Given the description of an element on the screen output the (x, y) to click on. 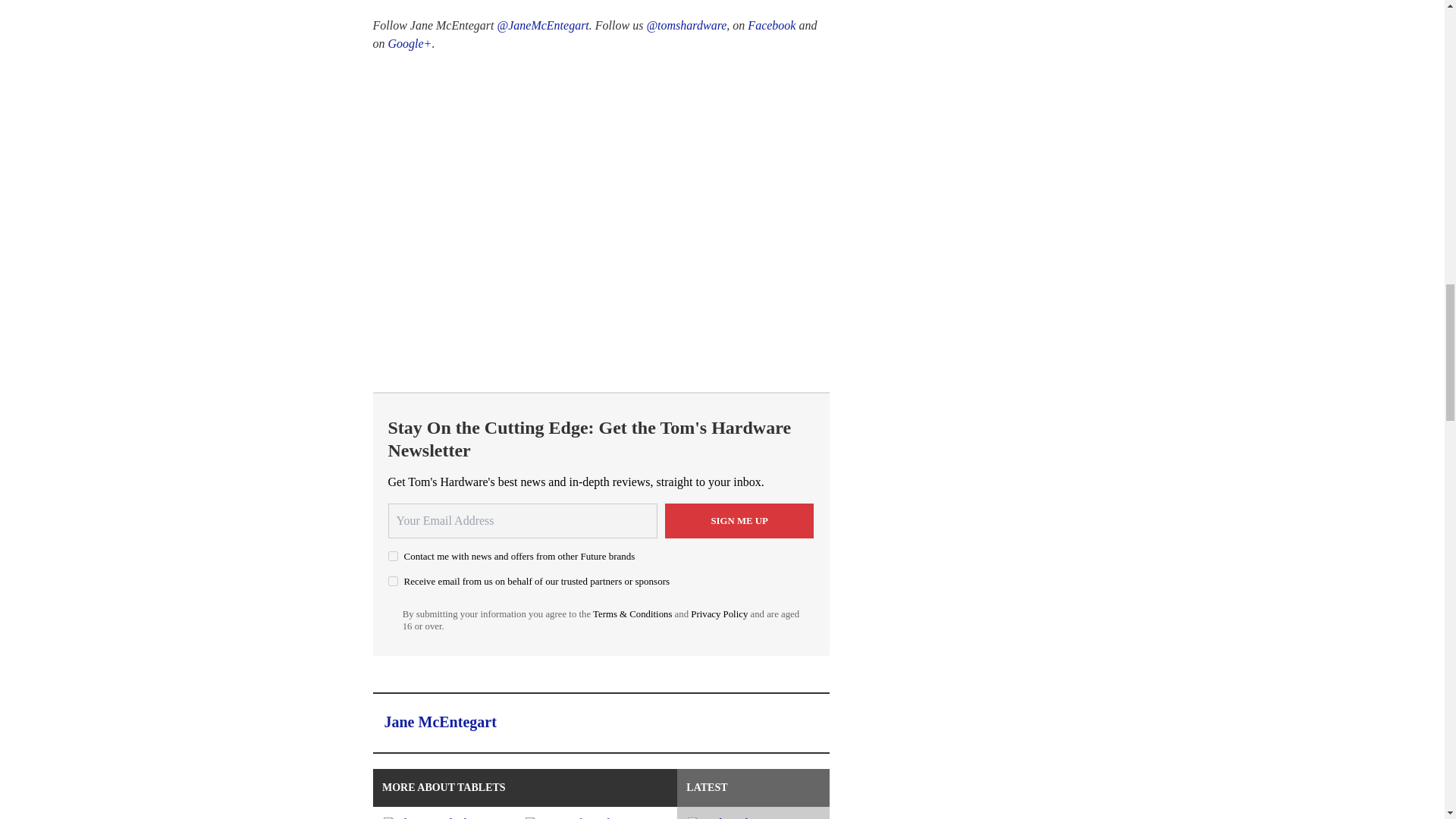
on (392, 581)
on (392, 556)
Sign me up (739, 520)
